Given the description of an element on the screen output the (x, y) to click on. 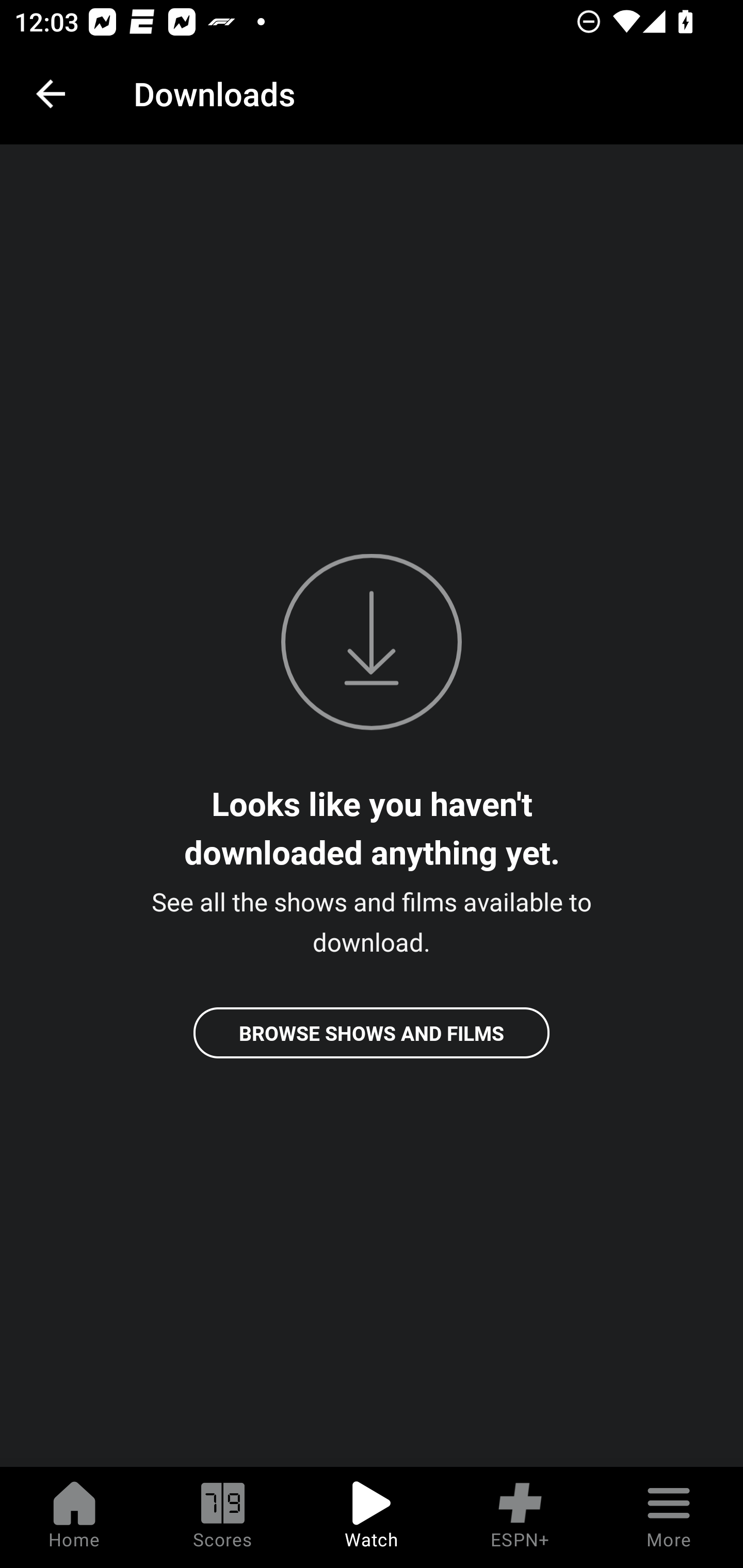
BROWSE SHOWS AND FILMS (371, 1032)
Home (74, 1517)
Scores (222, 1517)
ESPN+ (519, 1517)
More (668, 1517)
